Given the description of an element on the screen output the (x, y) to click on. 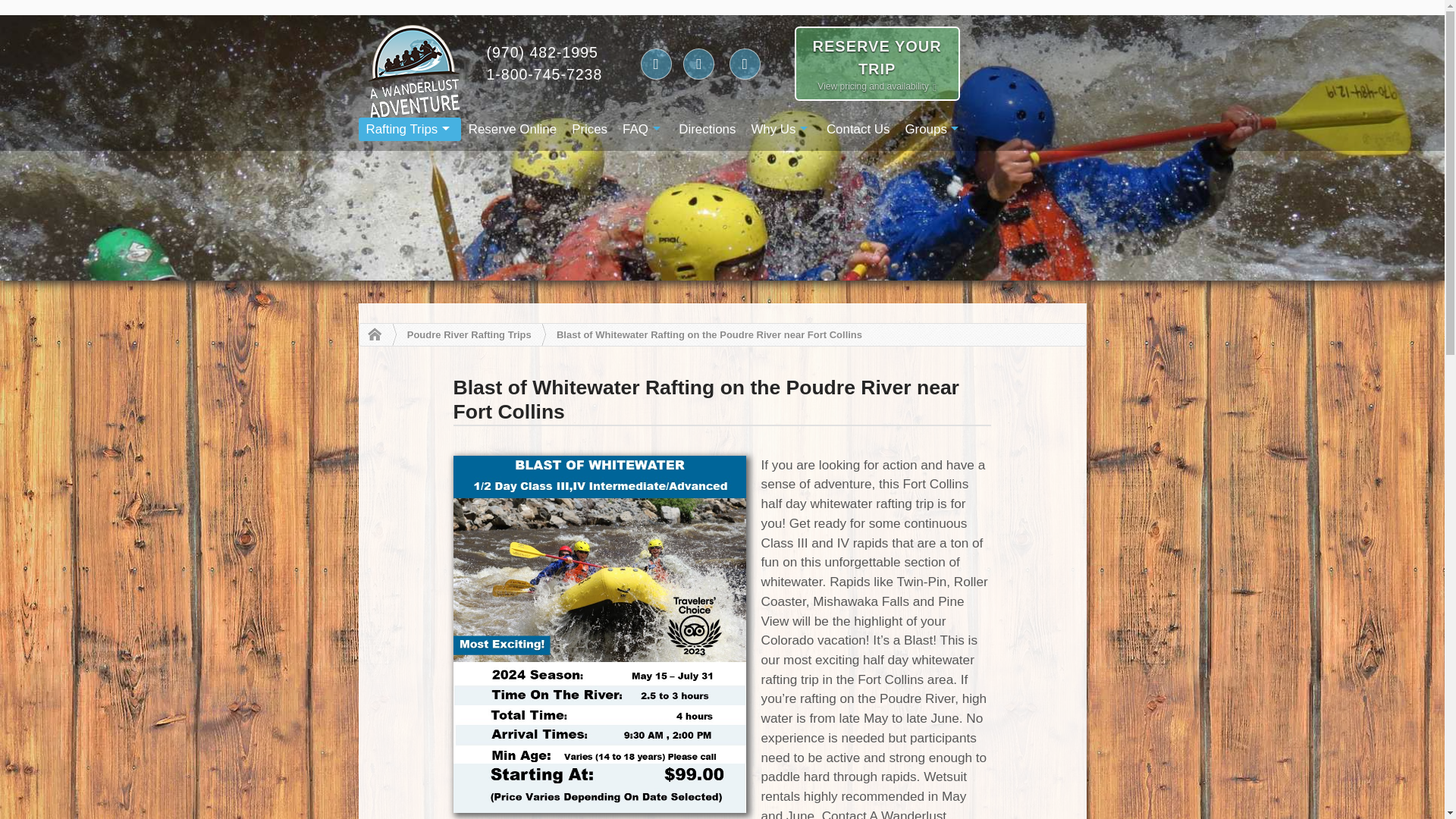
Contact Us (858, 128)
FAQ (642, 128)
A Wanderlust Adventure (370, 333)
Prices (589, 128)
Why Us (780, 128)
Raft Trips (409, 128)
Poudre River Rafting Trips (469, 334)
Rafting Trips (409, 128)
Directions (706, 128)
Reserve Online (512, 128)
Groups (932, 128)
Acrtic Reservations (512, 128)
